Given the description of an element on the screen output the (x, y) to click on. 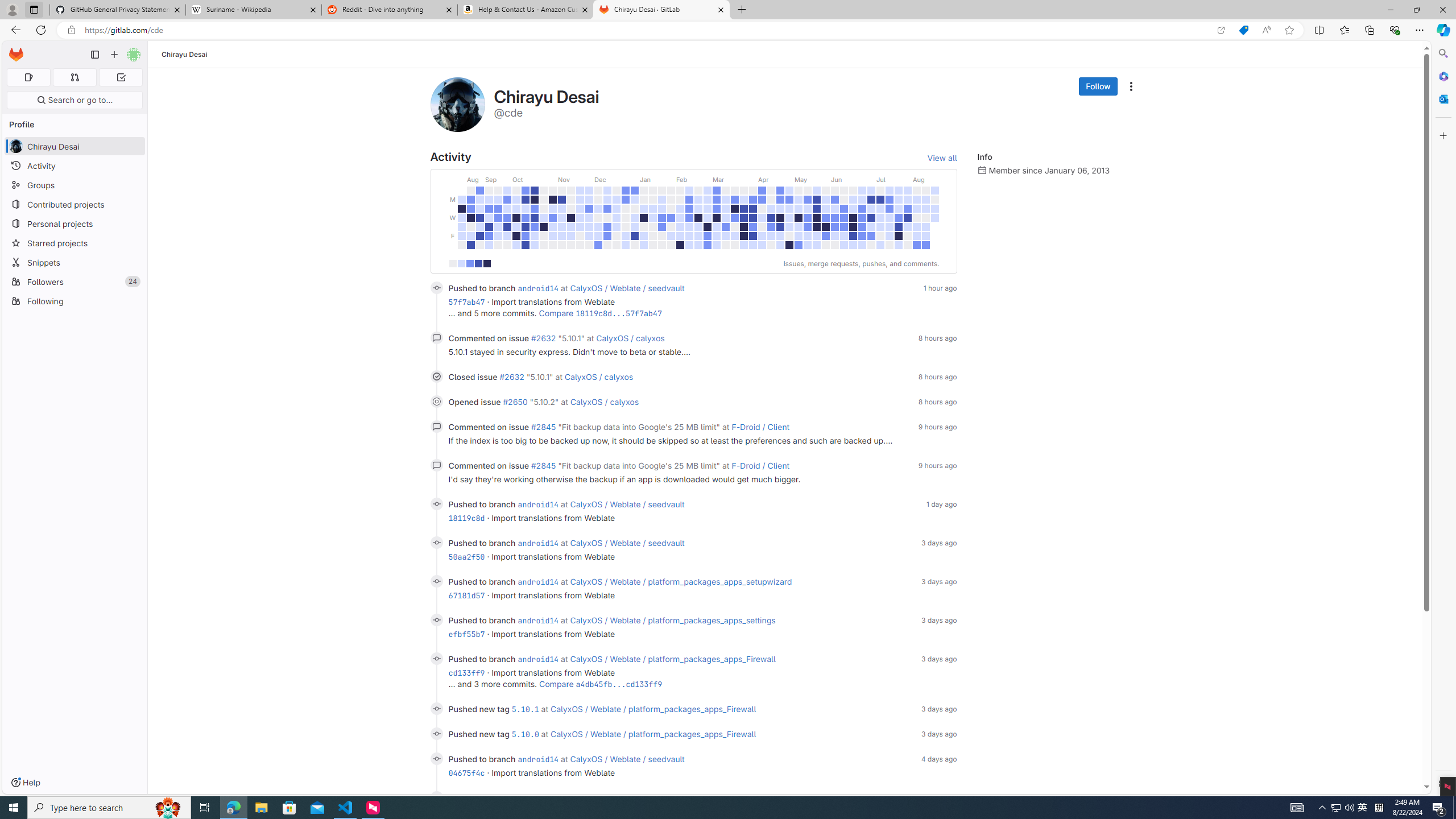
Followers24 (74, 281)
10-19 contributions (469, 262)
Personal projects (74, 223)
CalyxOS / Weblate / platform_frameworks_base (660, 797)
